Given the description of an element on the screen output the (x, y) to click on. 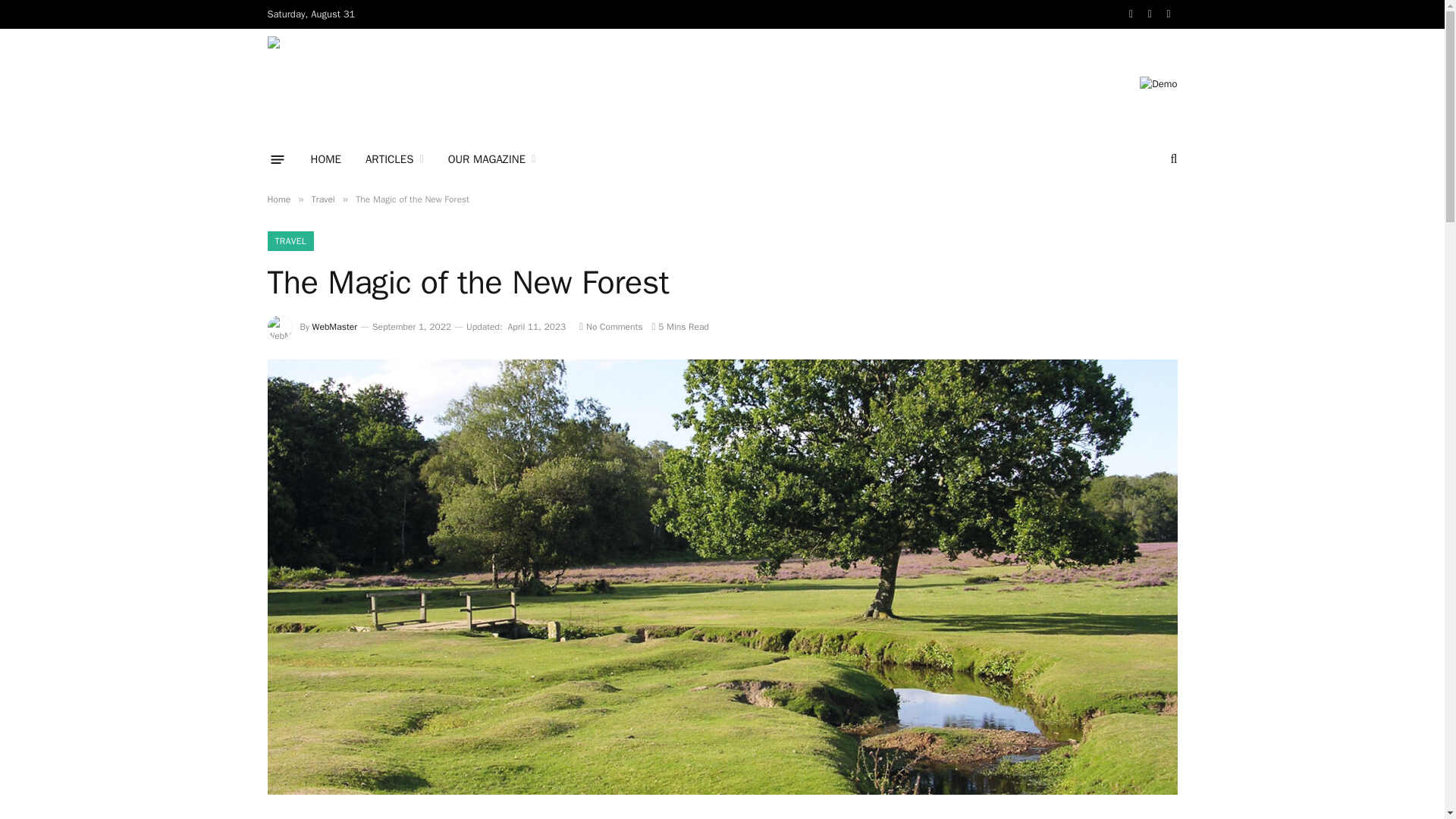
Posts by WebMaster (334, 326)
Island Life Magazine (480, 83)
